Given the description of an element on the screen output the (x, y) to click on. 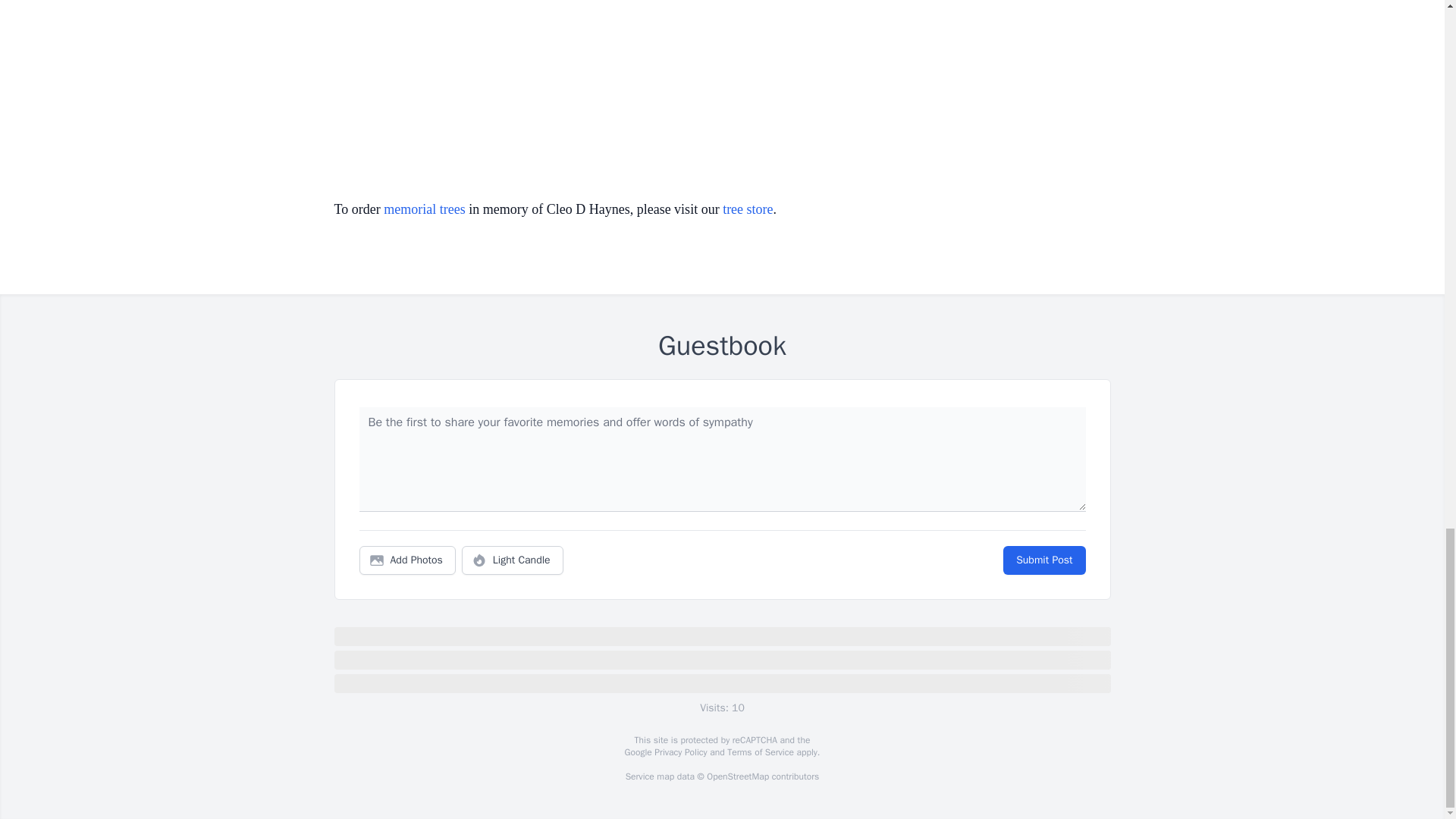
tree store (747, 209)
Submit Post (1043, 560)
Privacy Policy (679, 752)
memorial trees (424, 209)
Add Photos (407, 560)
Light Candle (512, 560)
Terms of Service (759, 752)
OpenStreetMap (737, 776)
